Given the description of an element on the screen output the (x, y) to click on. 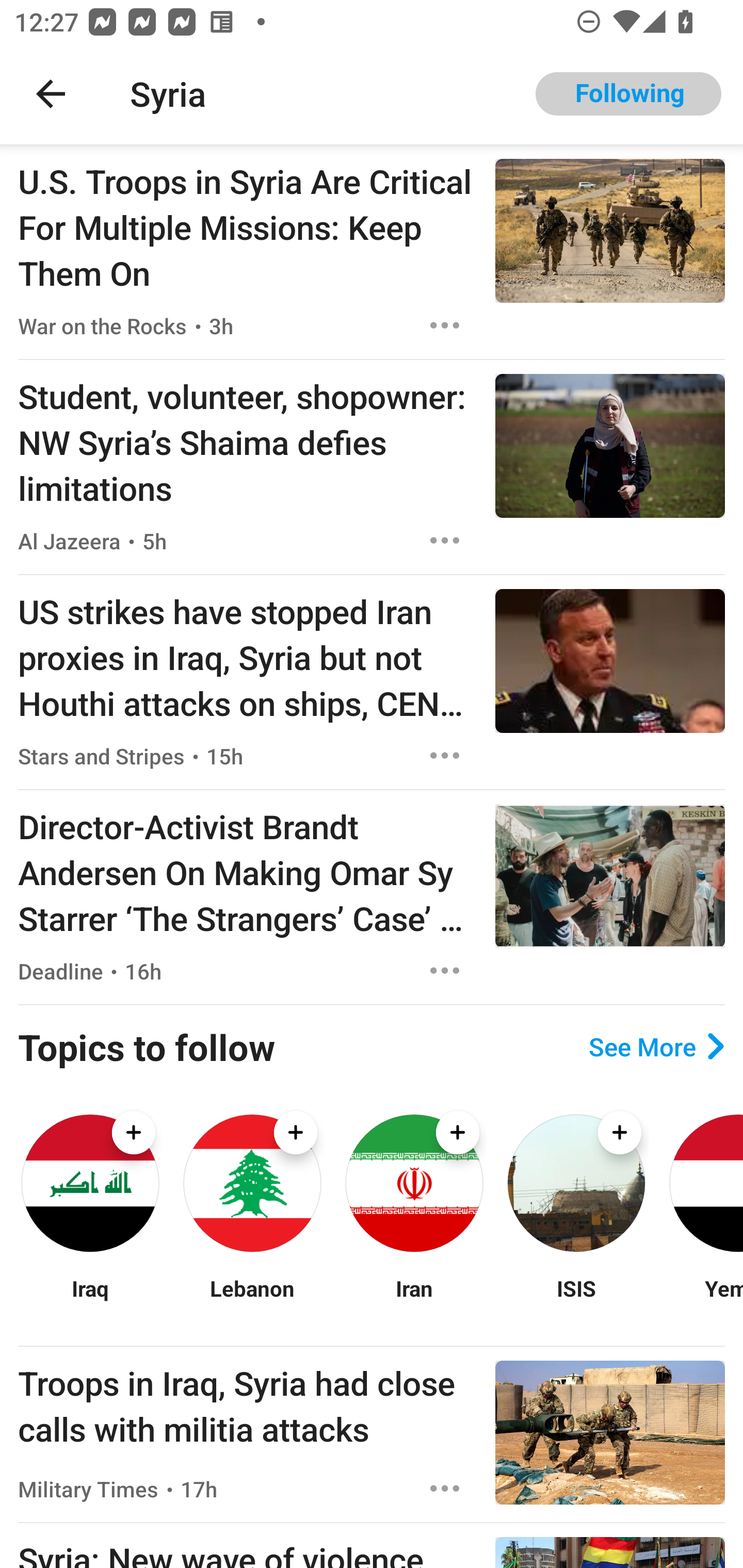
Navigate up (50, 93)
Following (628, 94)
Options (444, 325)
Options (444, 540)
Options (444, 755)
Options (444, 970)
See More (656, 1046)
Iraq (89, 1300)
Lebanon (251, 1300)
Iran (413, 1300)
ISIS (575, 1300)
Options (444, 1488)
